Given the description of an element on the screen output the (x, y) to click on. 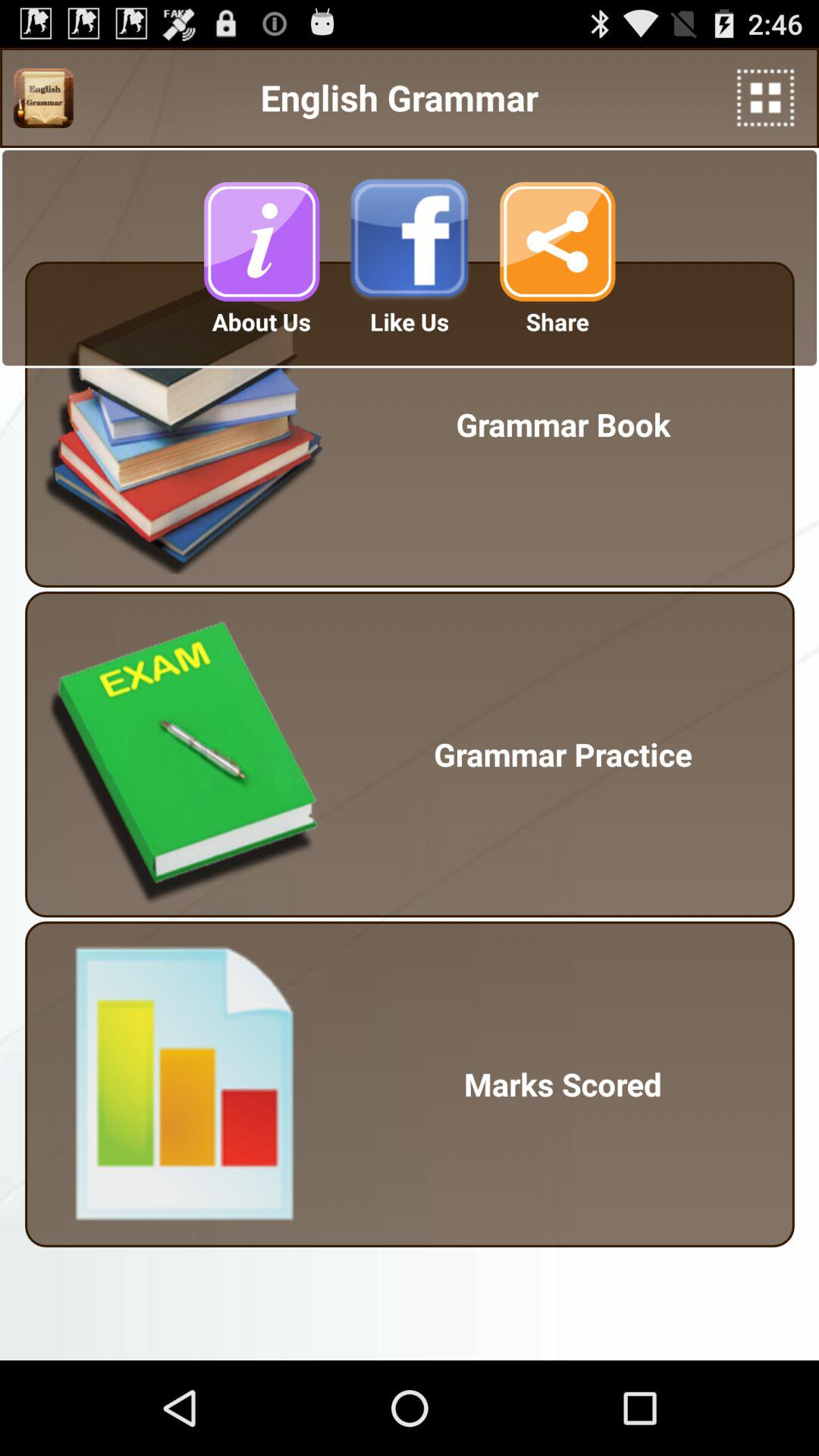
press icon above the like us app (409, 241)
